Given the description of an element on the screen output the (x, y) to click on. 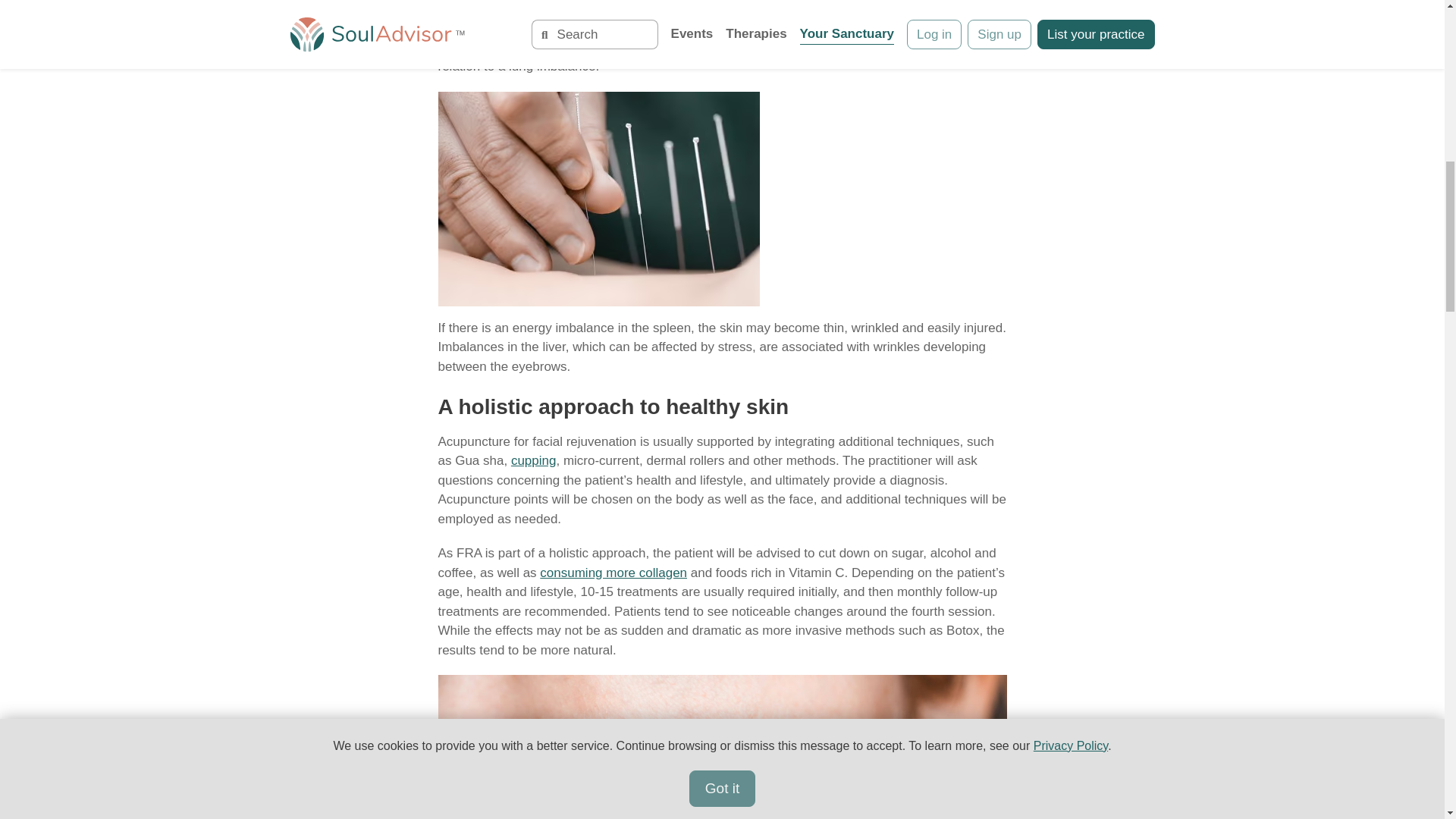
cupping (533, 460)
consuming more collagen (613, 572)
